Given the description of an element on the screen output the (x, y) to click on. 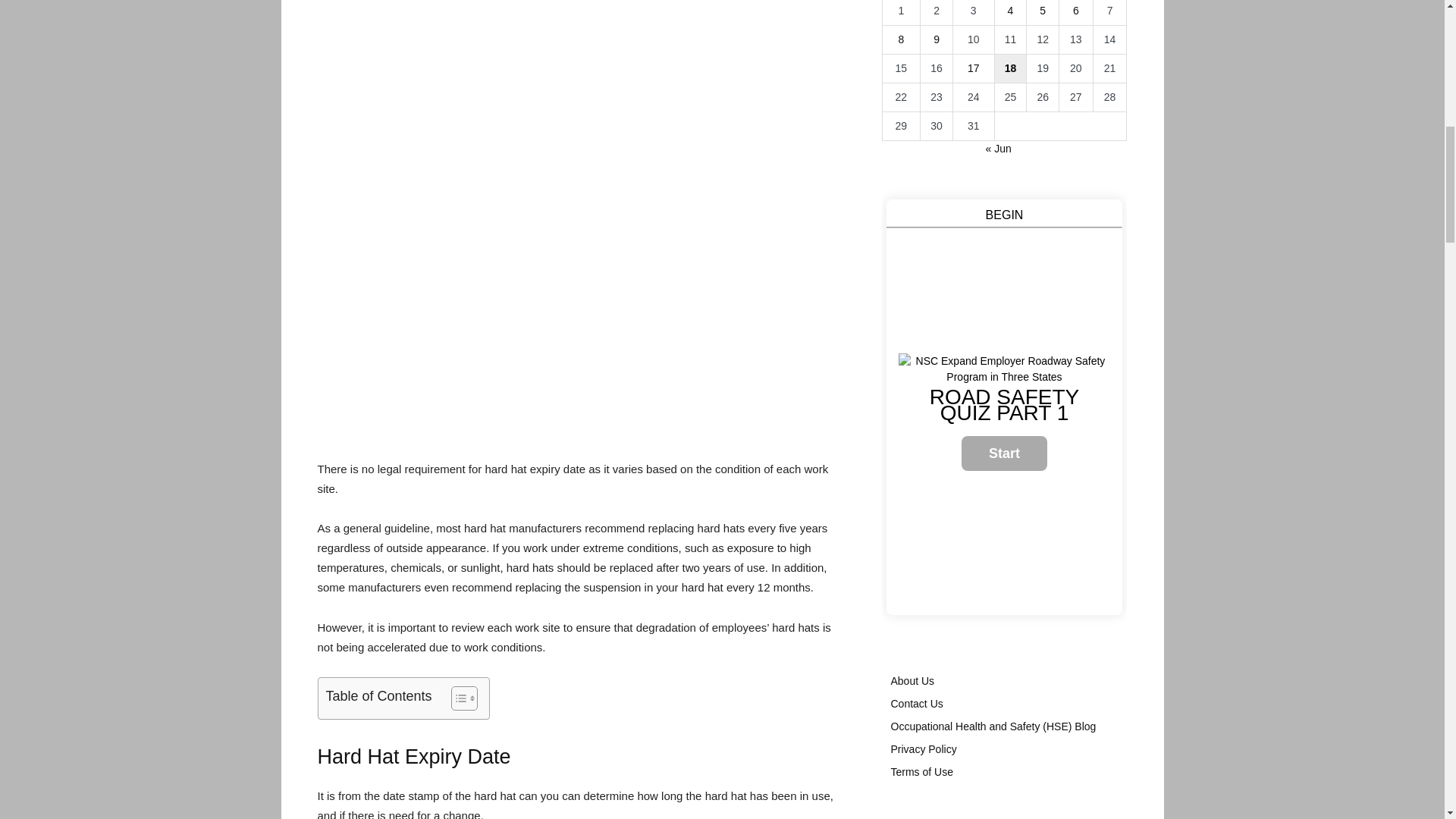
Start (1003, 452)
